Given the description of an element on the screen output the (x, y) to click on. 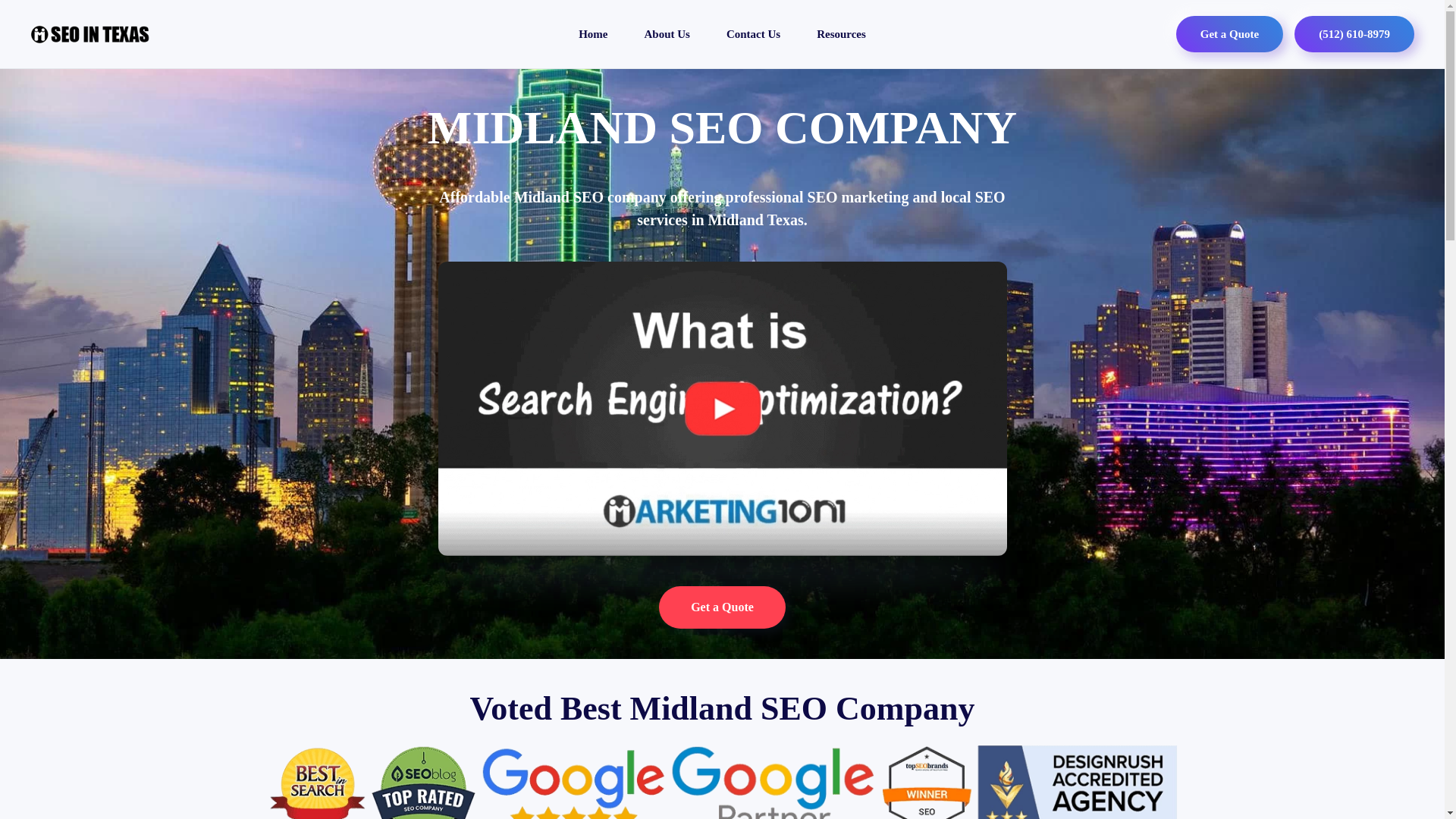
Home (593, 33)
Get a Quote (722, 607)
Contact Us (752, 33)
Get a Quote (1229, 33)
Contact Us (752, 33)
Resources (840, 33)
About Us (666, 33)
SEO in Texas (593, 33)
About Us (666, 33)
